Given the description of an element on the screen output the (x, y) to click on. 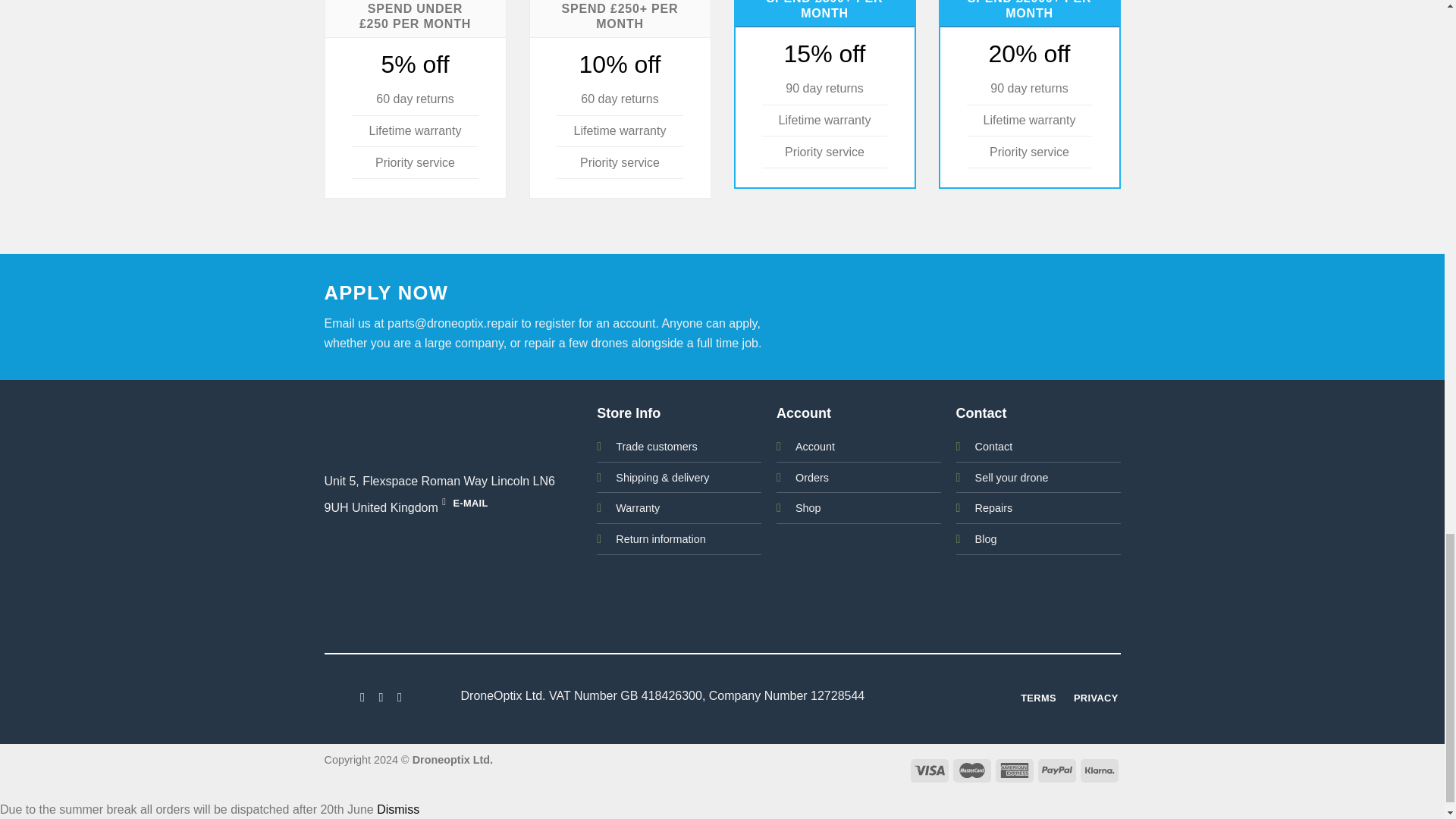
Trade customers (656, 446)
Repairs (994, 508)
Blog (986, 539)
Account (814, 446)
Sell your drone (1011, 477)
Contact (994, 446)
Shop (807, 508)
TERMS (1037, 698)
Warranty (637, 508)
E-MAIL (465, 503)
PRIVACY (1095, 698)
Return information (659, 539)
Orders (811, 477)
